Given the description of an element on the screen output the (x, y) to click on. 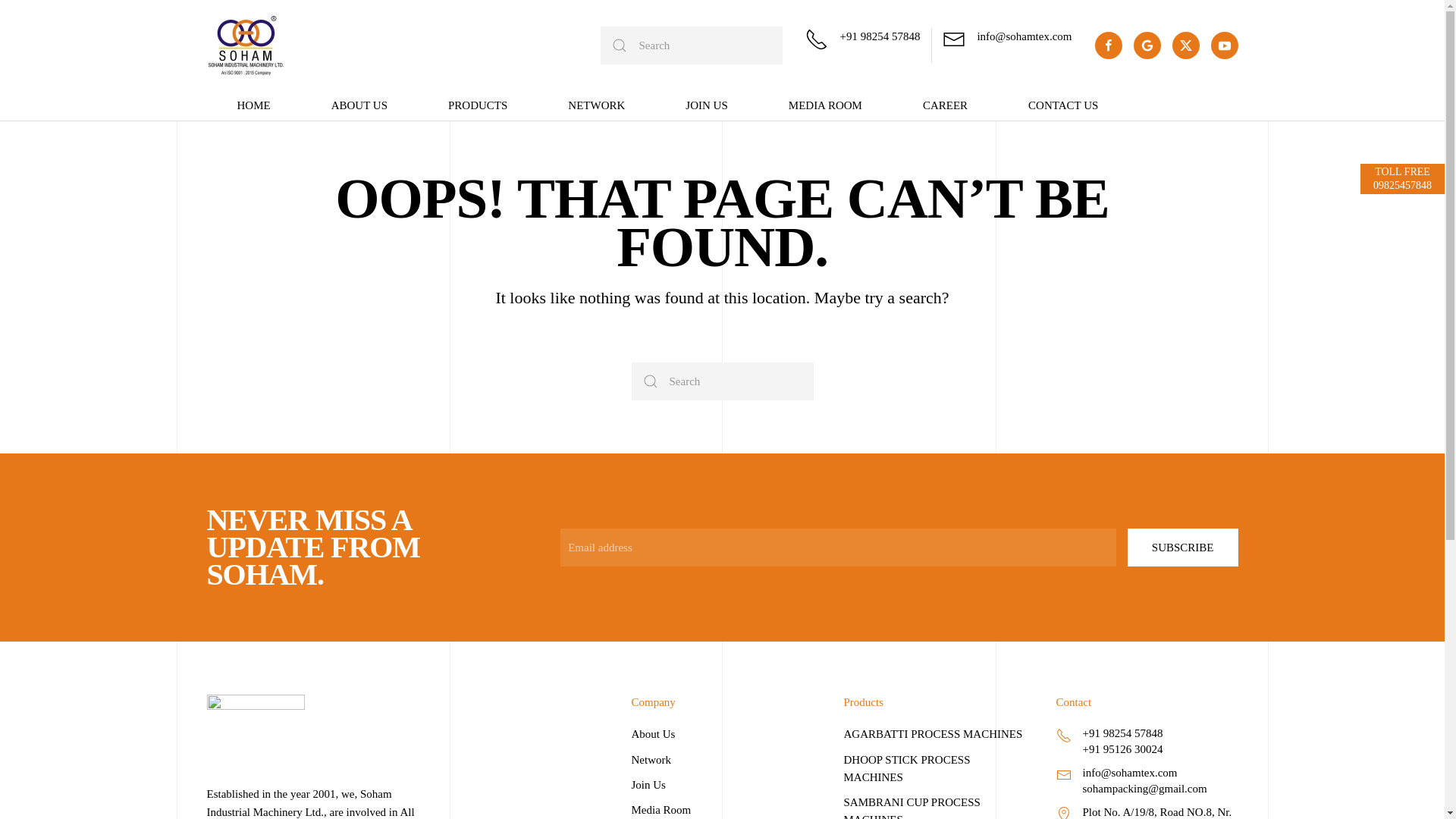
Products (934, 702)
Contact (721, 772)
Company (1146, 702)
